Given the description of an element on the screen output the (x, y) to click on. 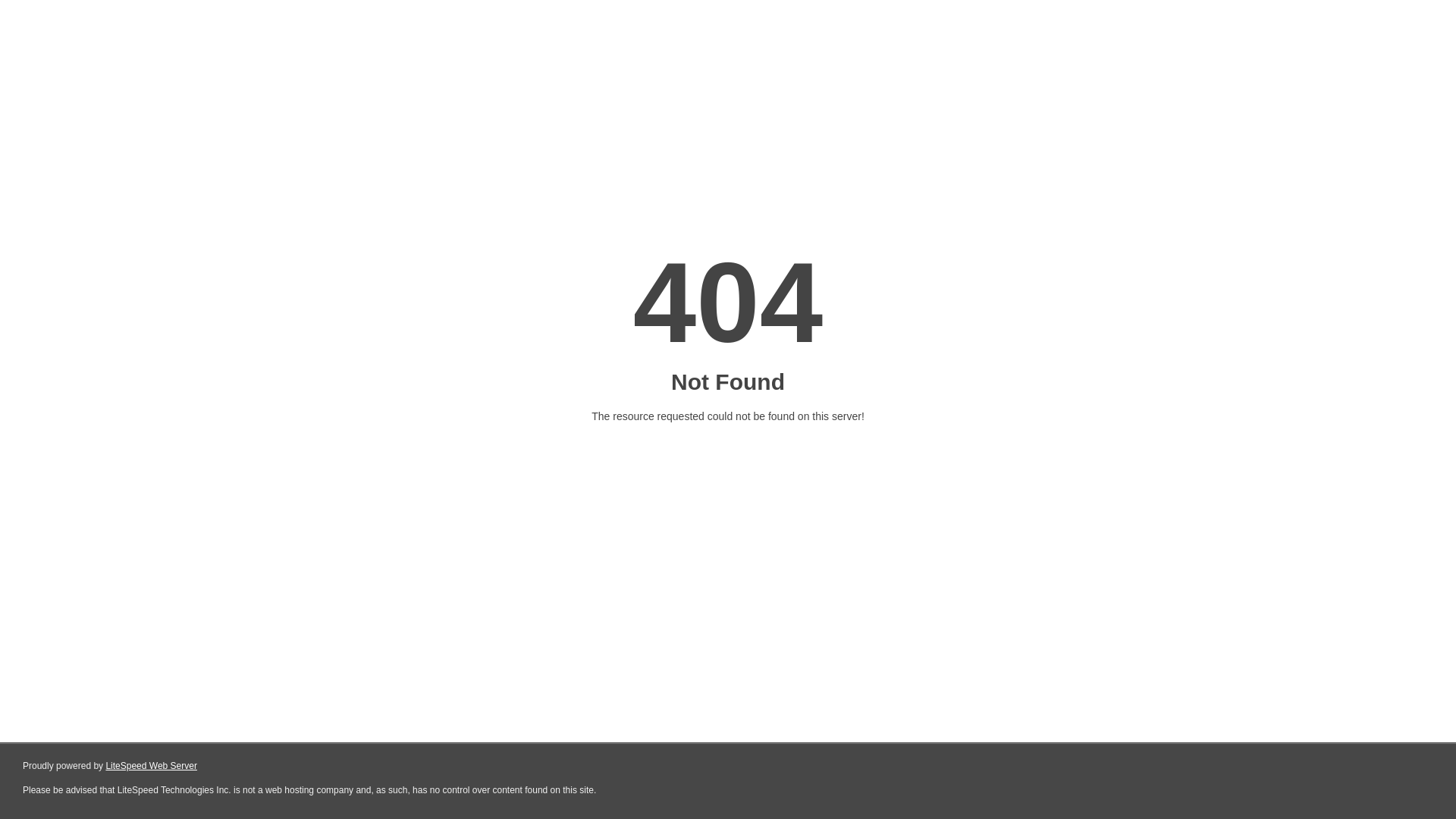
LiteSpeed Web Server Element type: text (151, 765)
